Given the description of an element on the screen output the (x, y) to click on. 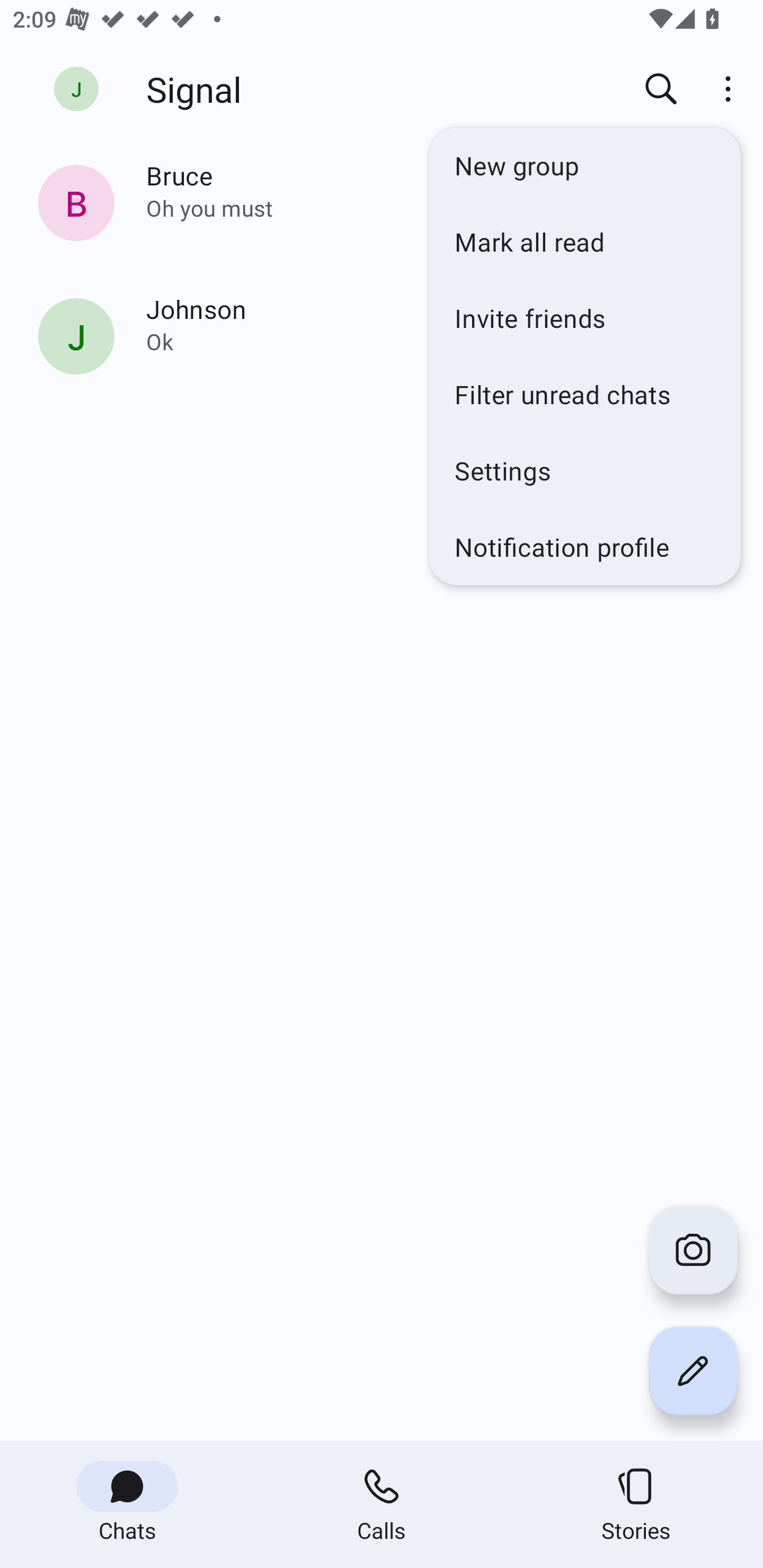
New group (584, 165)
